Given the description of an element on the screen output the (x, y) to click on. 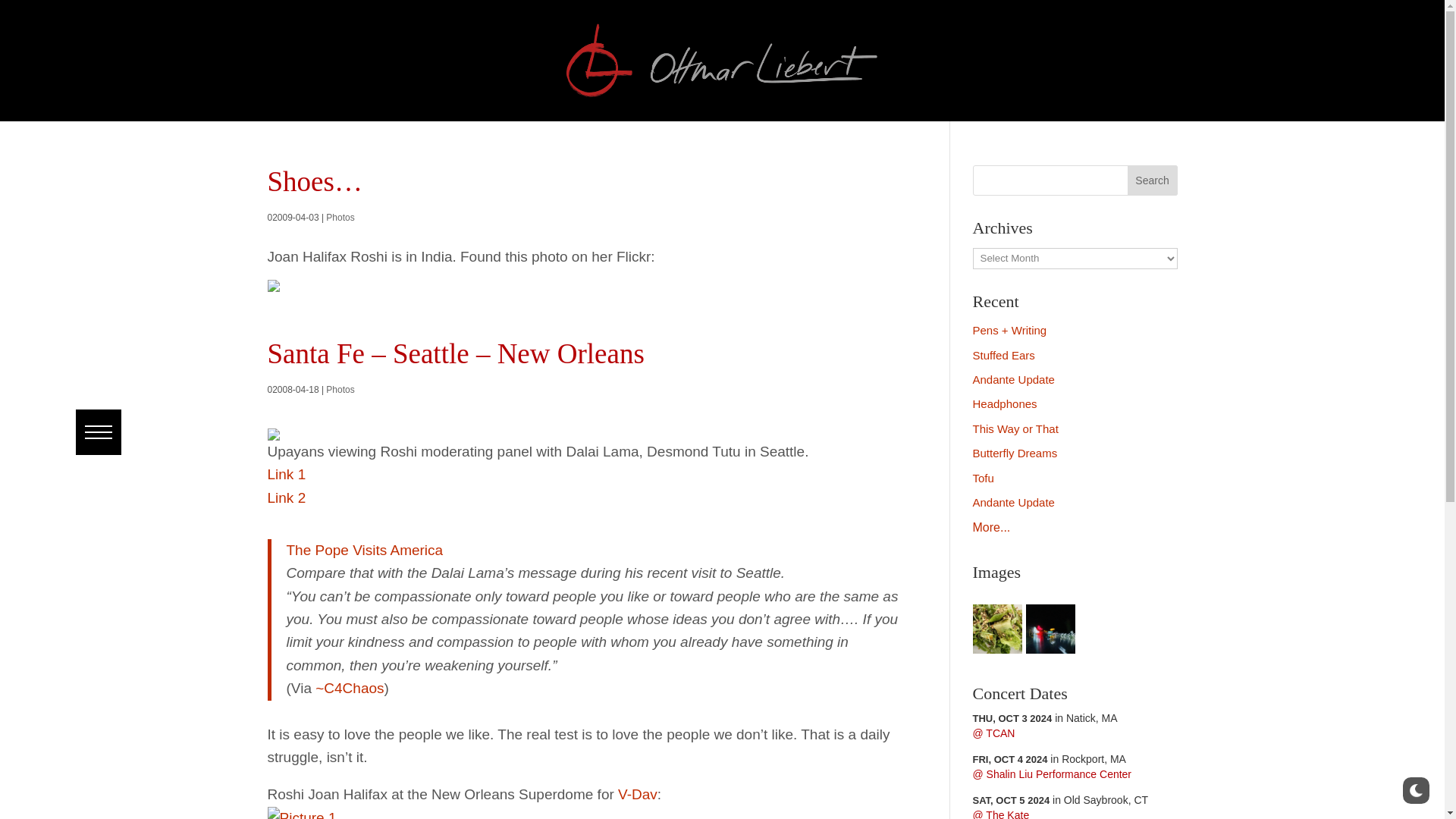
ol-hand-drawn-logo-8bit (722, 60)
Link 2 (285, 497)
Search (1151, 180)
Photos (339, 217)
The Pope Visits America (365, 549)
Search (48, 10)
V-Dav (637, 794)
View 'Picture 1' on Flickr.com (301, 814)
Photos (339, 389)
Link 1 (285, 474)
